Given the description of an element on the screen output the (x, y) to click on. 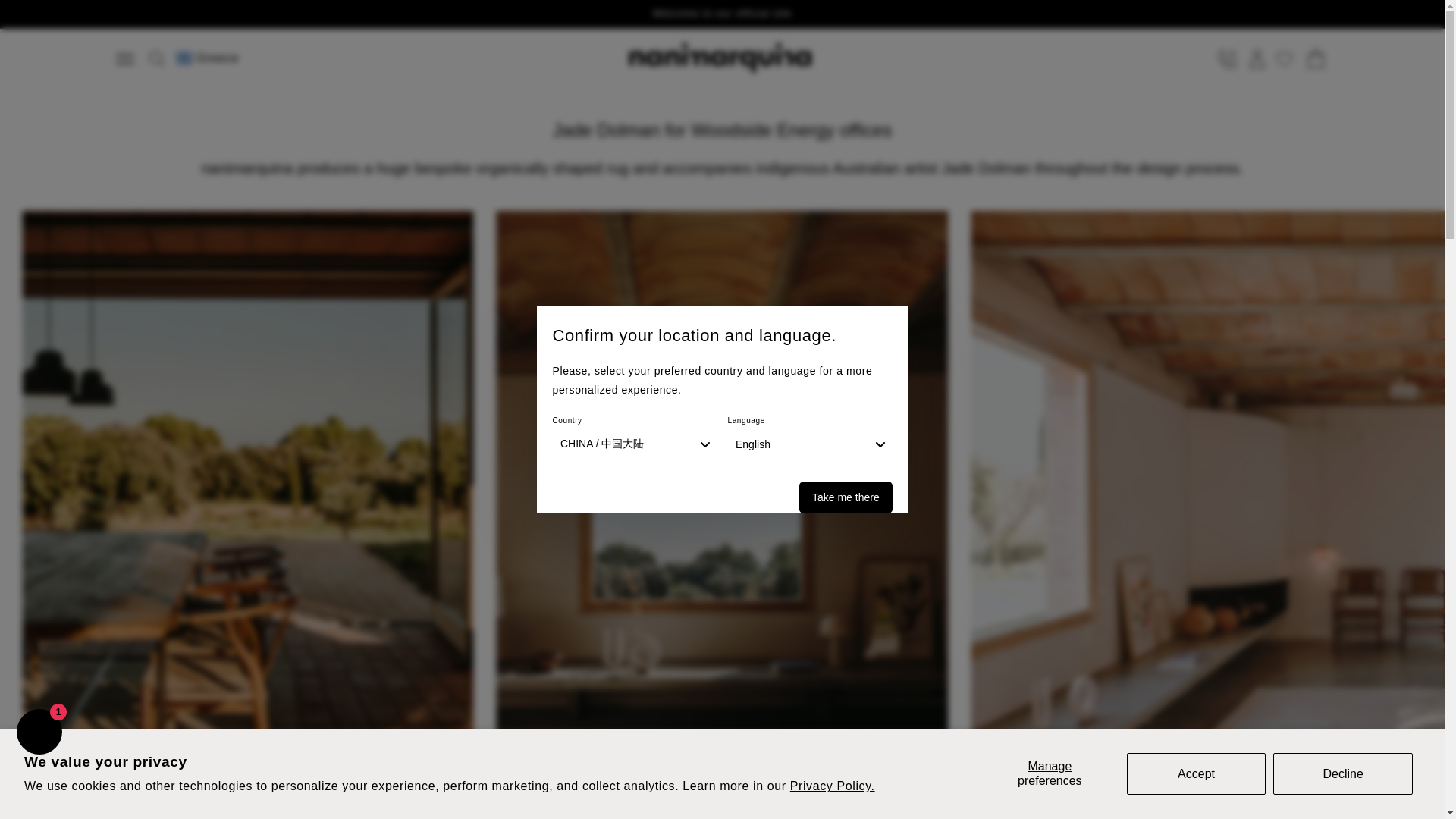
Take me there (845, 497)
Skip to content (113, 16)
Accept (1196, 772)
Shopify online store chat (38, 733)
Privacy Policy. (832, 785)
View Wishlist (1286, 59)
English (810, 444)
Decline (1342, 772)
Manage preferences (1049, 772)
